Given the description of an element on the screen output the (x, y) to click on. 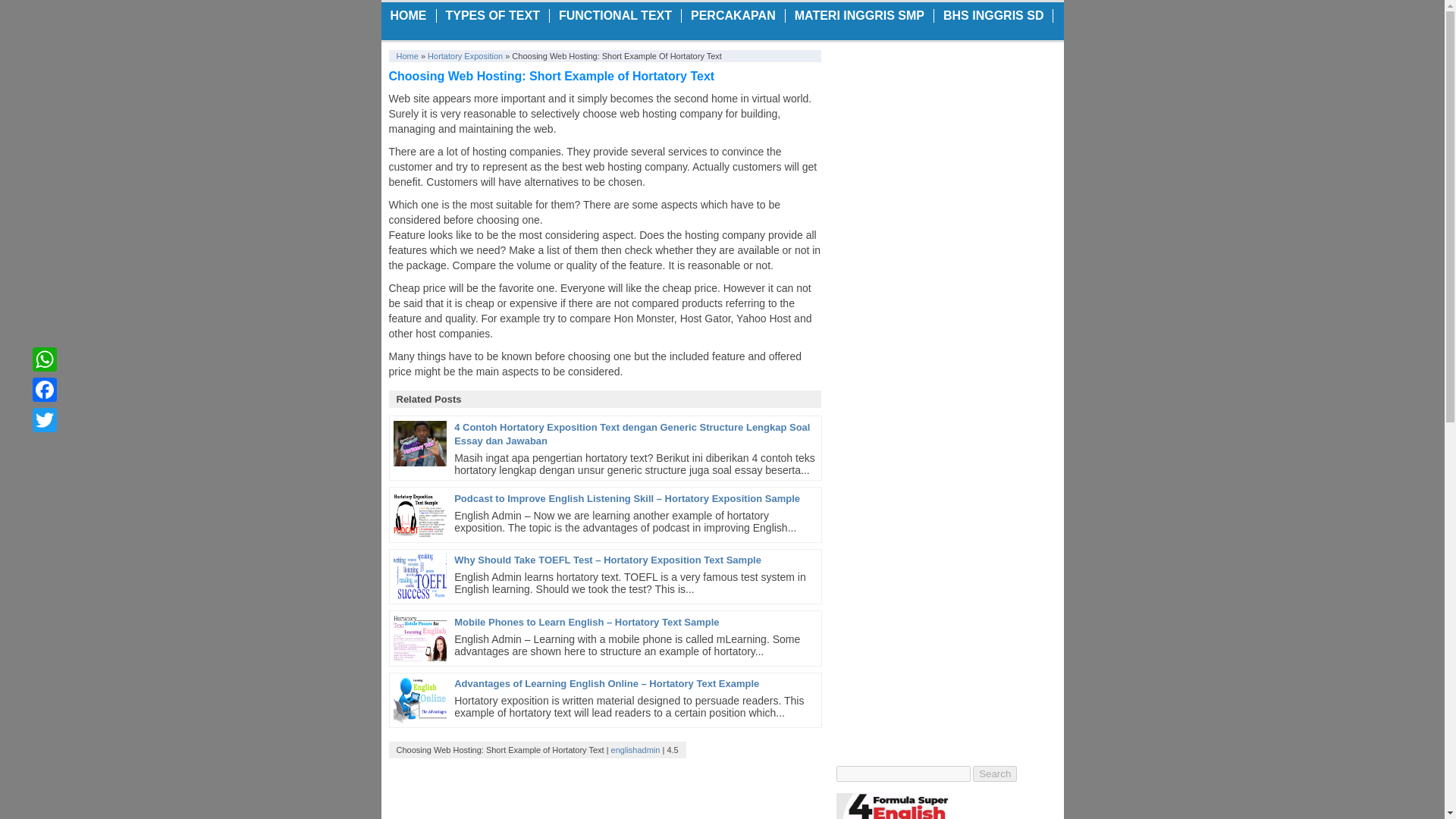
Facebook (44, 389)
Search (994, 773)
englishadmin (636, 749)
WhatsApp (44, 358)
PERCAKAPAN (732, 15)
Hortatory Exposition (465, 55)
TYPES OF TEXT (492, 15)
Twitter (44, 419)
HOME (407, 15)
Home (406, 55)
Search (994, 773)
BHS INGGRIS SD (993, 15)
MATERI INGGRIS SMP (859, 15)
